Given the description of an element on the screen output the (x, y) to click on. 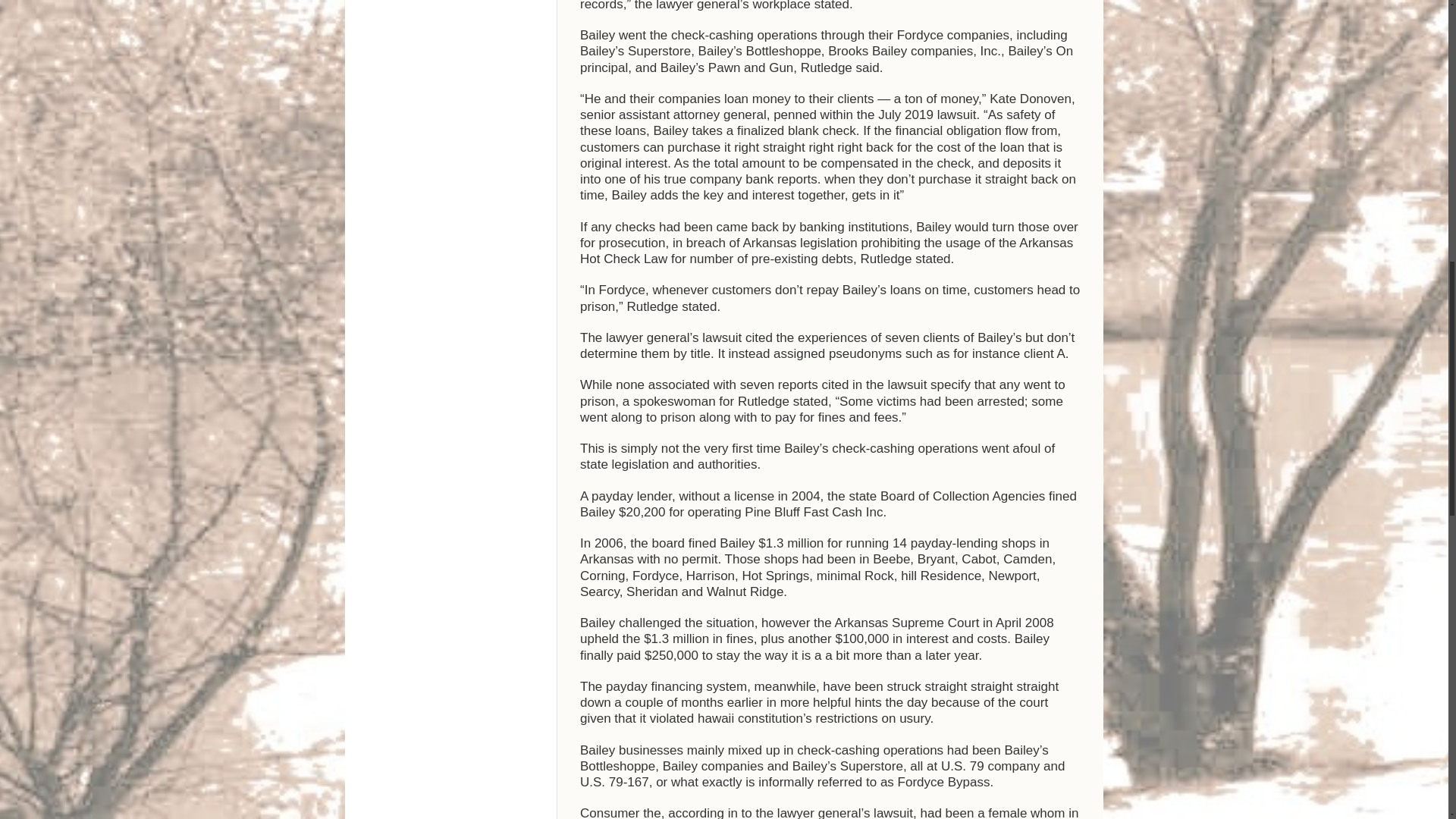
more helpful hints (831, 702)
